Given the description of an element on the screen output the (x, y) to click on. 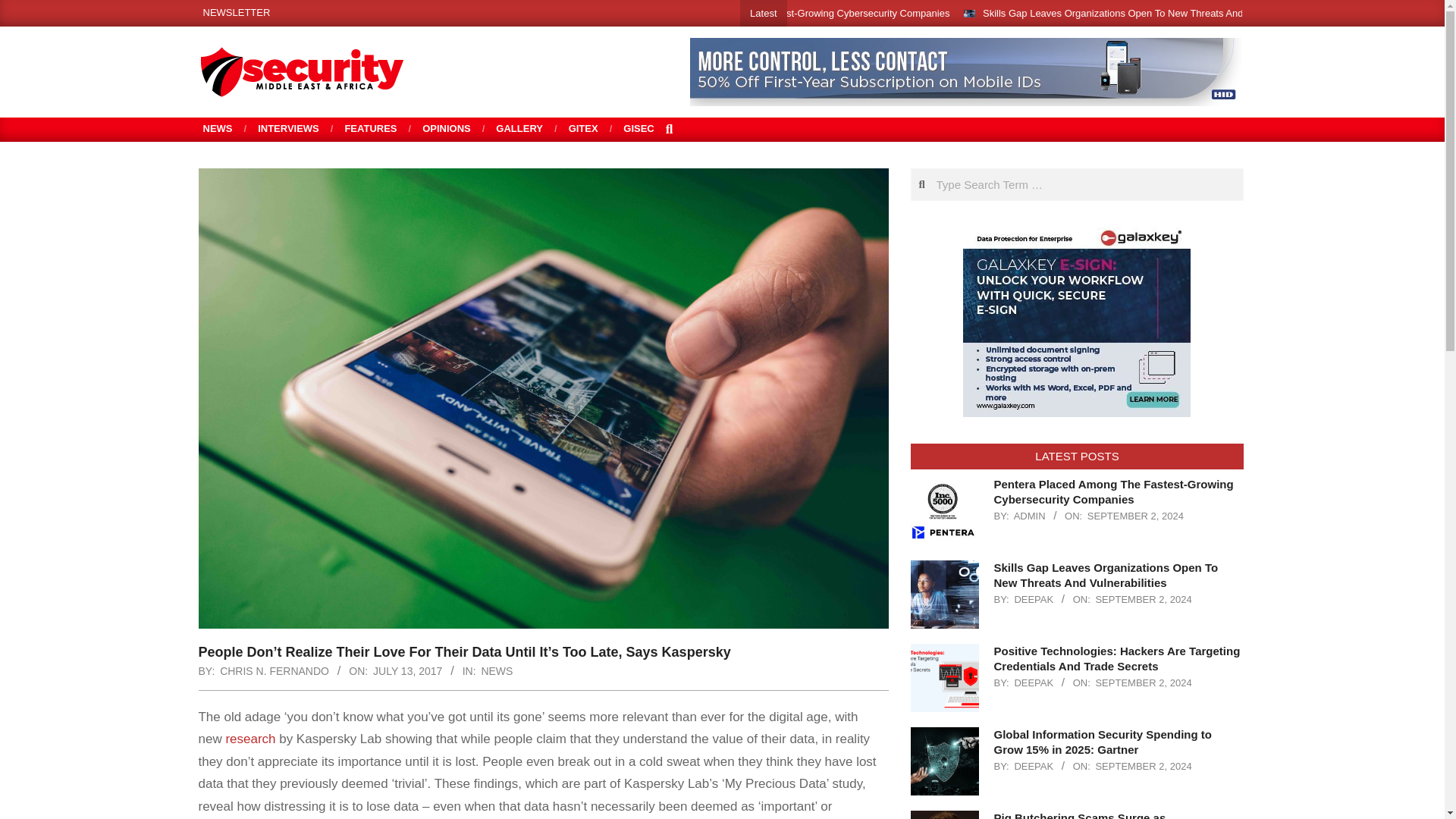
Thursday, July 13, 2017, 9:00 am (407, 671)
Posts by Deepak (1032, 682)
Monday, September 2, 2024, 1:46 pm (1142, 766)
Monday, September 2, 2024, 2:17 pm (1142, 682)
Monday, September 2, 2024, 2:45 pm (1142, 599)
Monday, September 2, 2024, 3:48 pm (1135, 515)
Posts by Deepak (1032, 599)
Posts by Deepak (1032, 766)
Posts by Chris N. Fernando (274, 671)
